Given the description of an element on the screen output the (x, y) to click on. 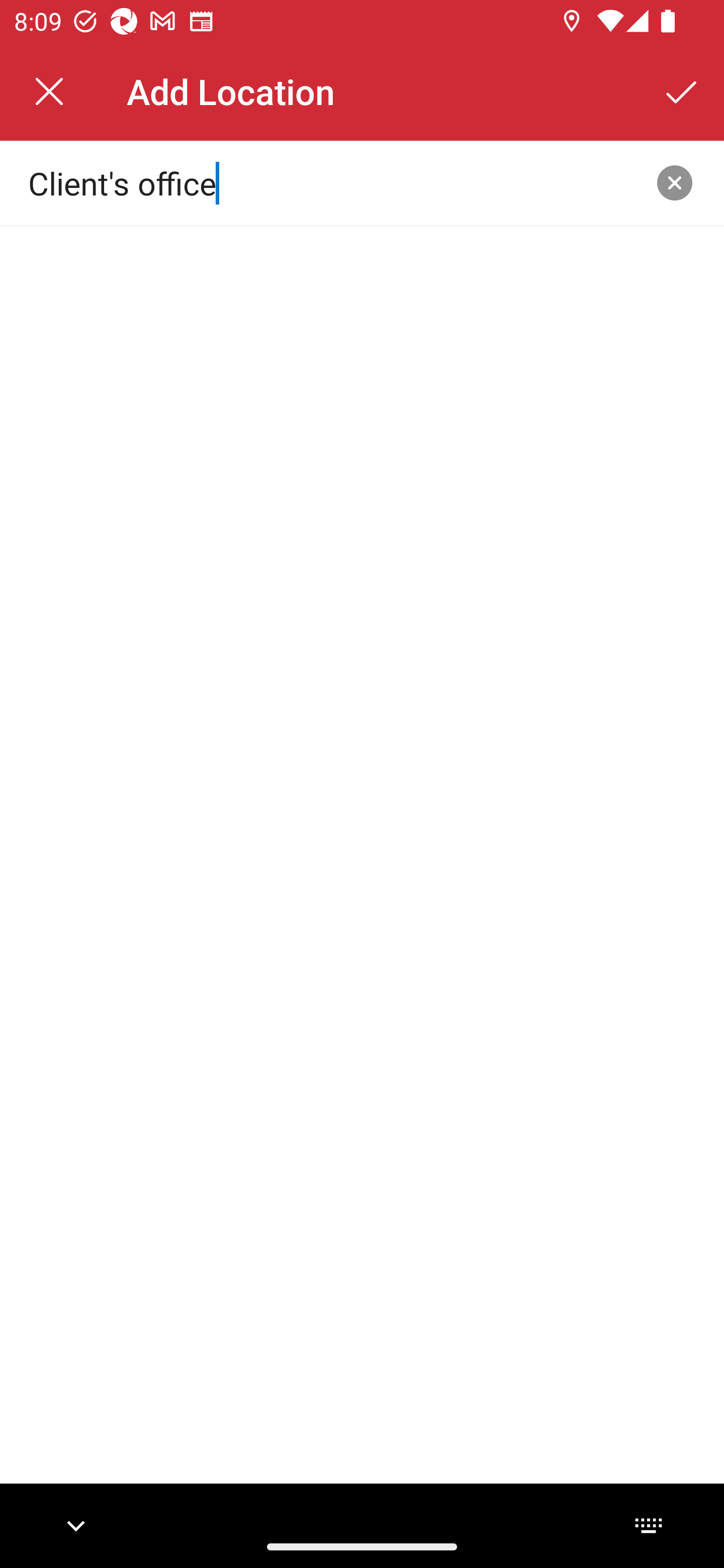
Close (49, 91)
Done (681, 91)
Clear location (674, 183)
Client's office (330, 182)
